Given the description of an element on the screen output the (x, y) to click on. 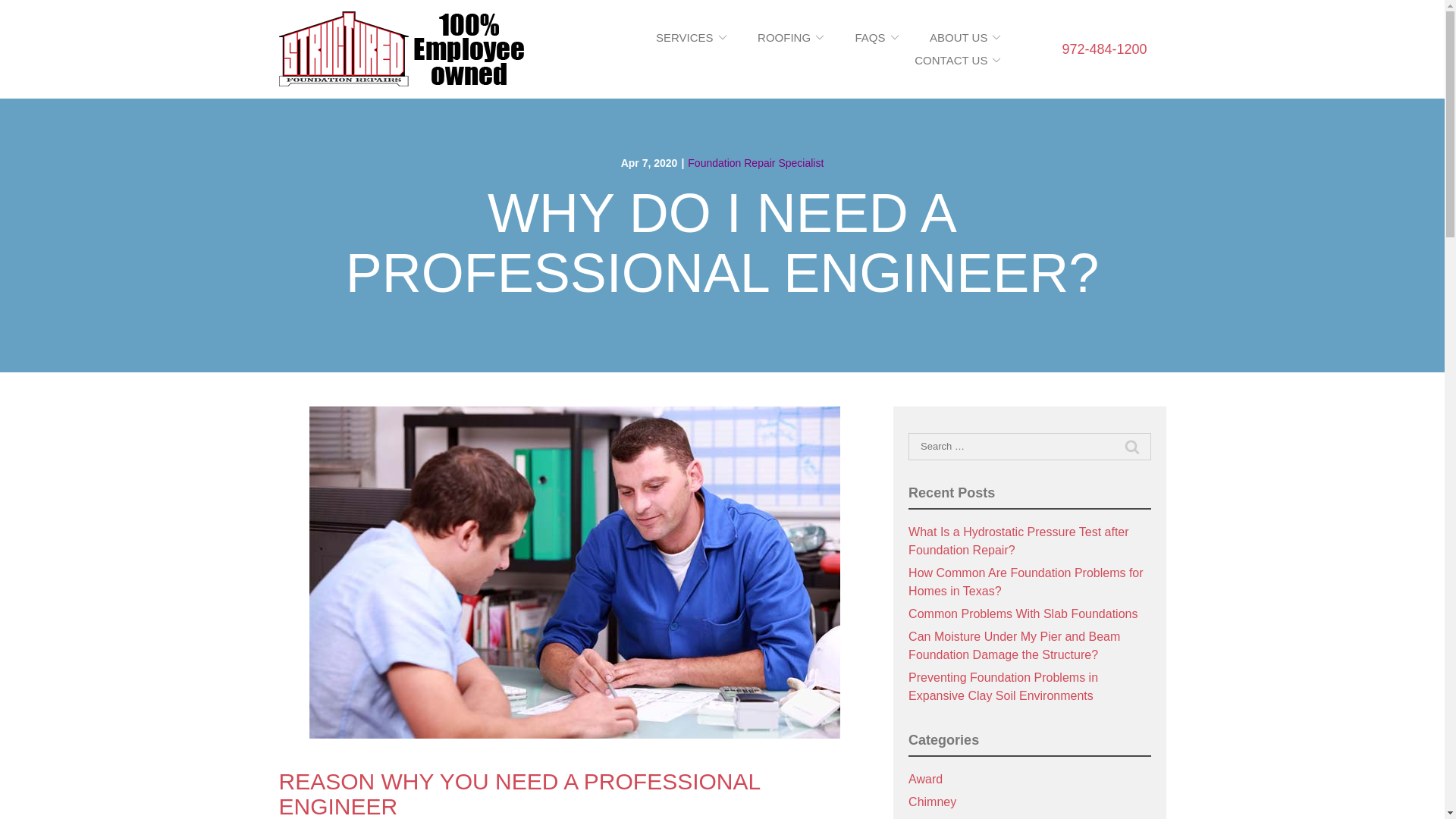
ABOUT US (965, 37)
FAQS (877, 37)
CONTACT US (957, 60)
SERVICES (691, 37)
ROOFING (790, 37)
